Given the description of an element on the screen output the (x, y) to click on. 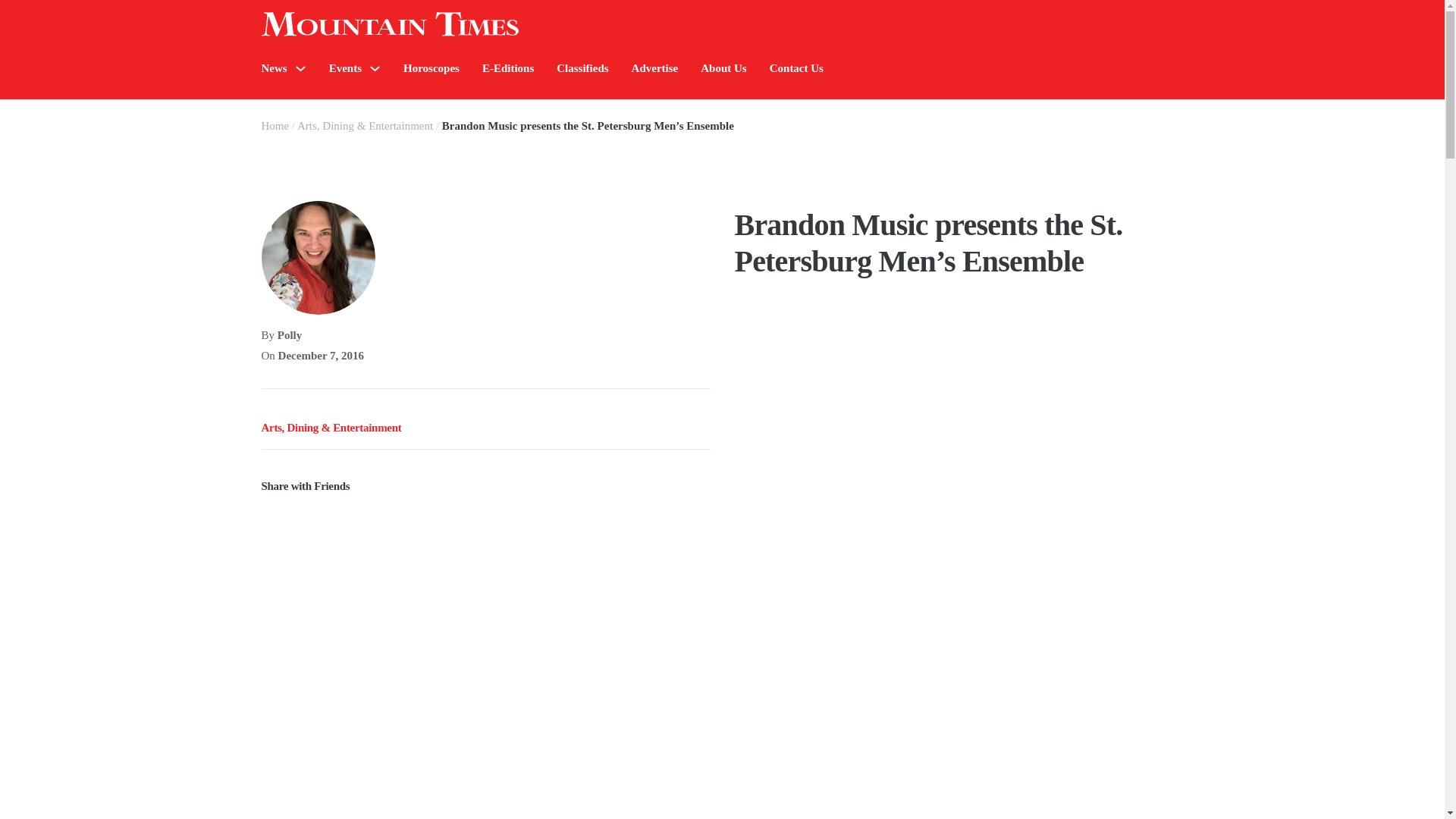
E-Editions (507, 67)
Horoscopes (431, 67)
News (273, 67)
About Us (722, 67)
Events (345, 67)
Classifieds (582, 67)
Search (1274, 114)
Contact Us (797, 67)
Share with Friends (485, 476)
Advertise (654, 67)
Home (274, 125)
Polly (290, 335)
